Given the description of an element on the screen output the (x, y) to click on. 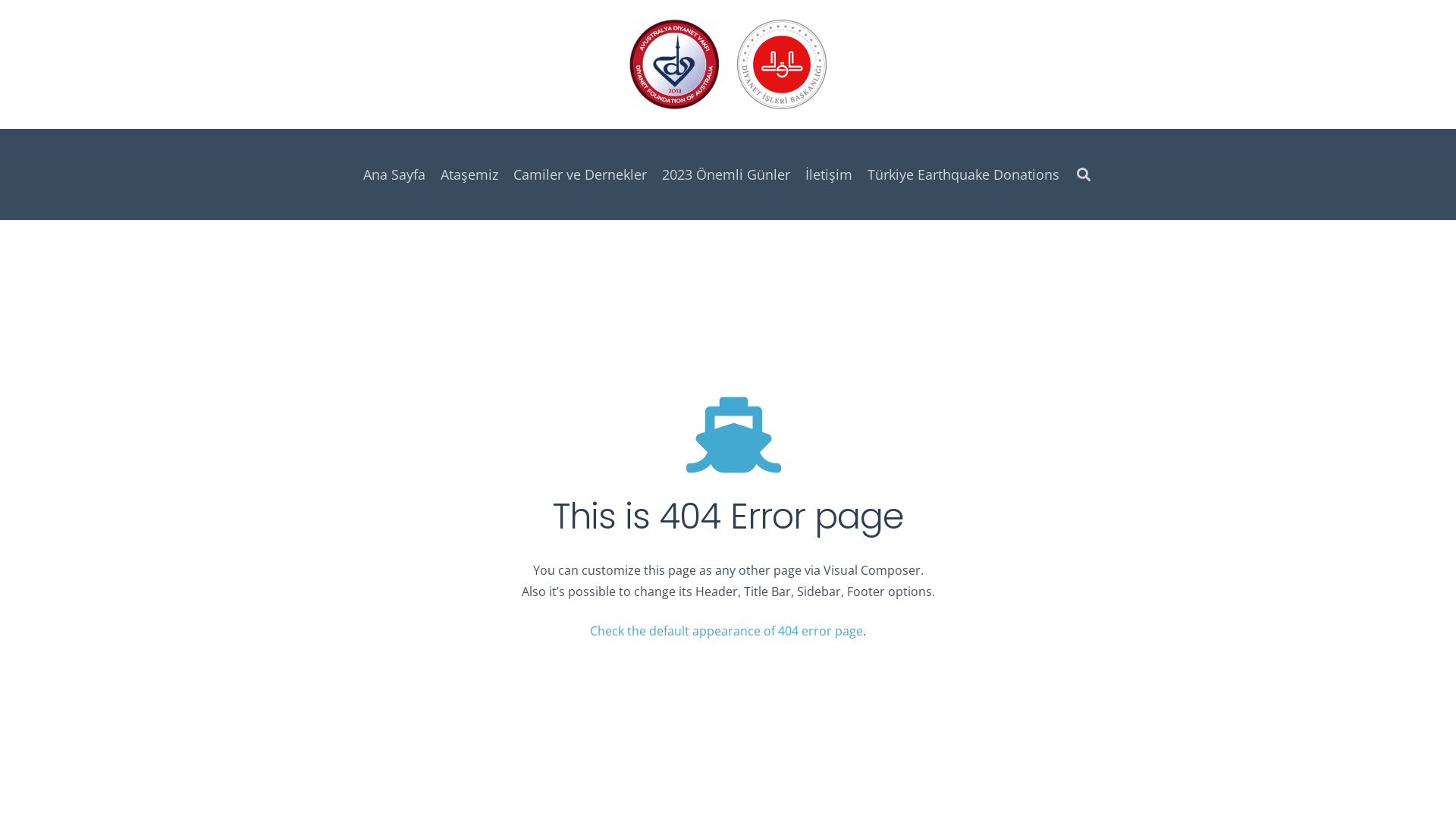
Camiler ve Dernekler Element type: text (579, 173)
Search Element type: hover (1083, 174)
Ana Sayfa Element type: text (394, 173)
Check the default appearance of 404 error page Element type: text (725, 630)
